Given the description of an element on the screen output the (x, y) to click on. 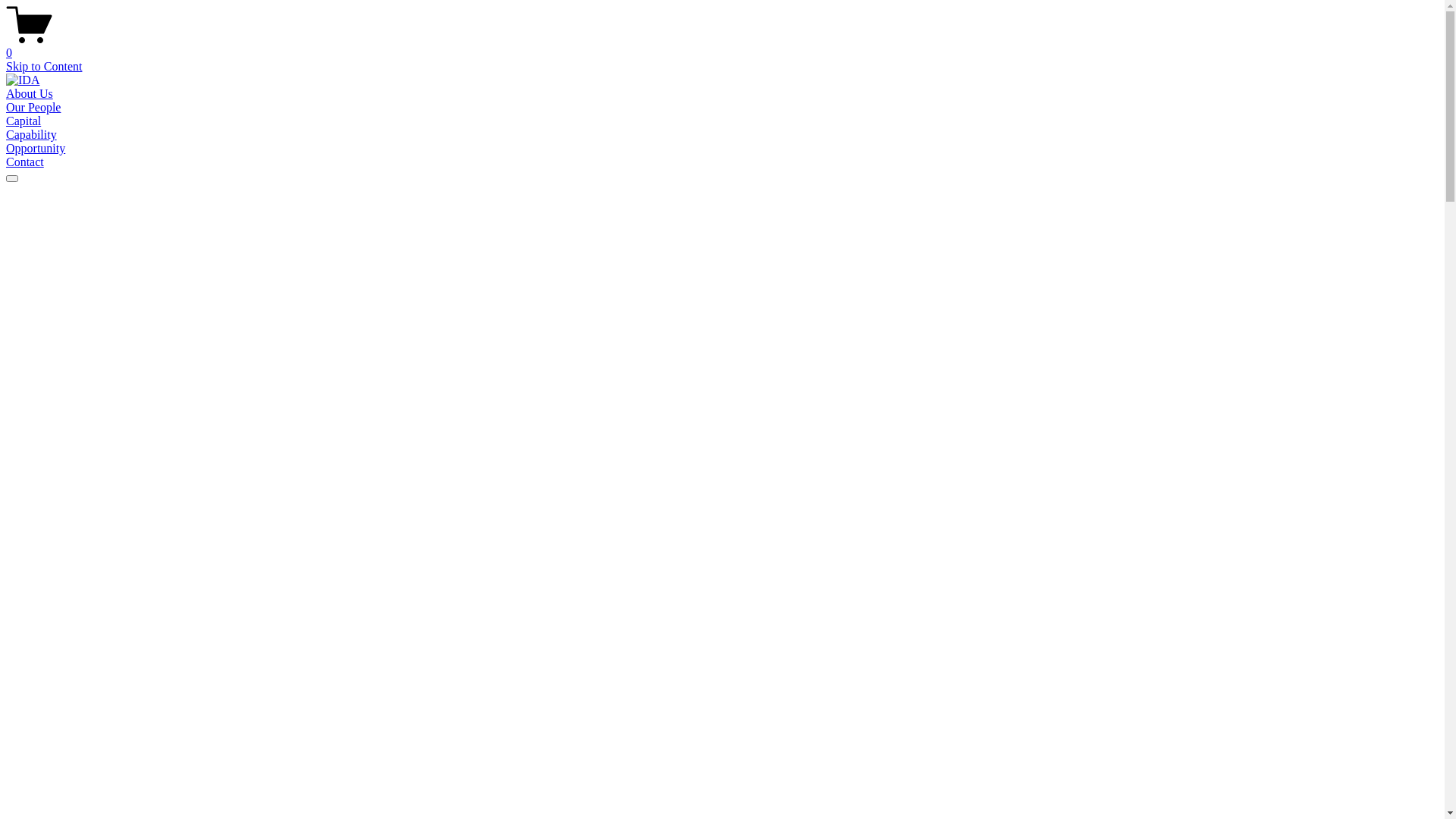
Contact Element type: text (24, 161)
Opportunity Element type: text (35, 147)
Skip to Content Element type: text (43, 65)
Capability Element type: text (31, 134)
Capital Element type: text (23, 120)
0 Element type: text (722, 45)
About Us Element type: text (29, 93)
Our People Element type: text (33, 106)
